Given the description of an element on the screen output the (x, y) to click on. 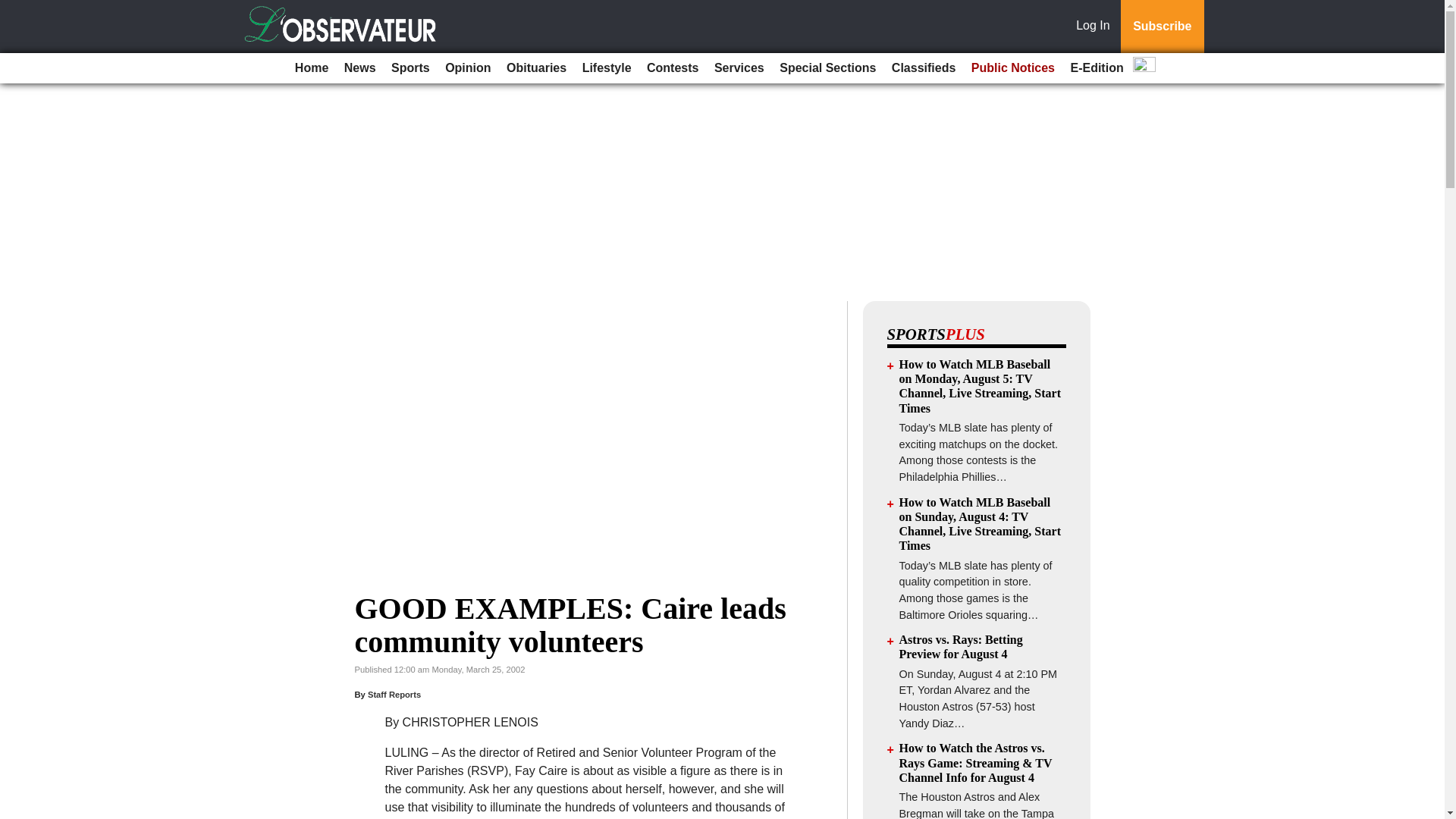
Home (311, 68)
Go (13, 9)
Lifestyle (606, 68)
Classifieds (922, 68)
Log In (1095, 26)
Contests (672, 68)
News (359, 68)
E-Edition (1096, 68)
Public Notices (1013, 68)
Obituaries (536, 68)
Services (738, 68)
Sports (410, 68)
Staff Reports (394, 694)
